Given the description of an element on the screen output the (x, y) to click on. 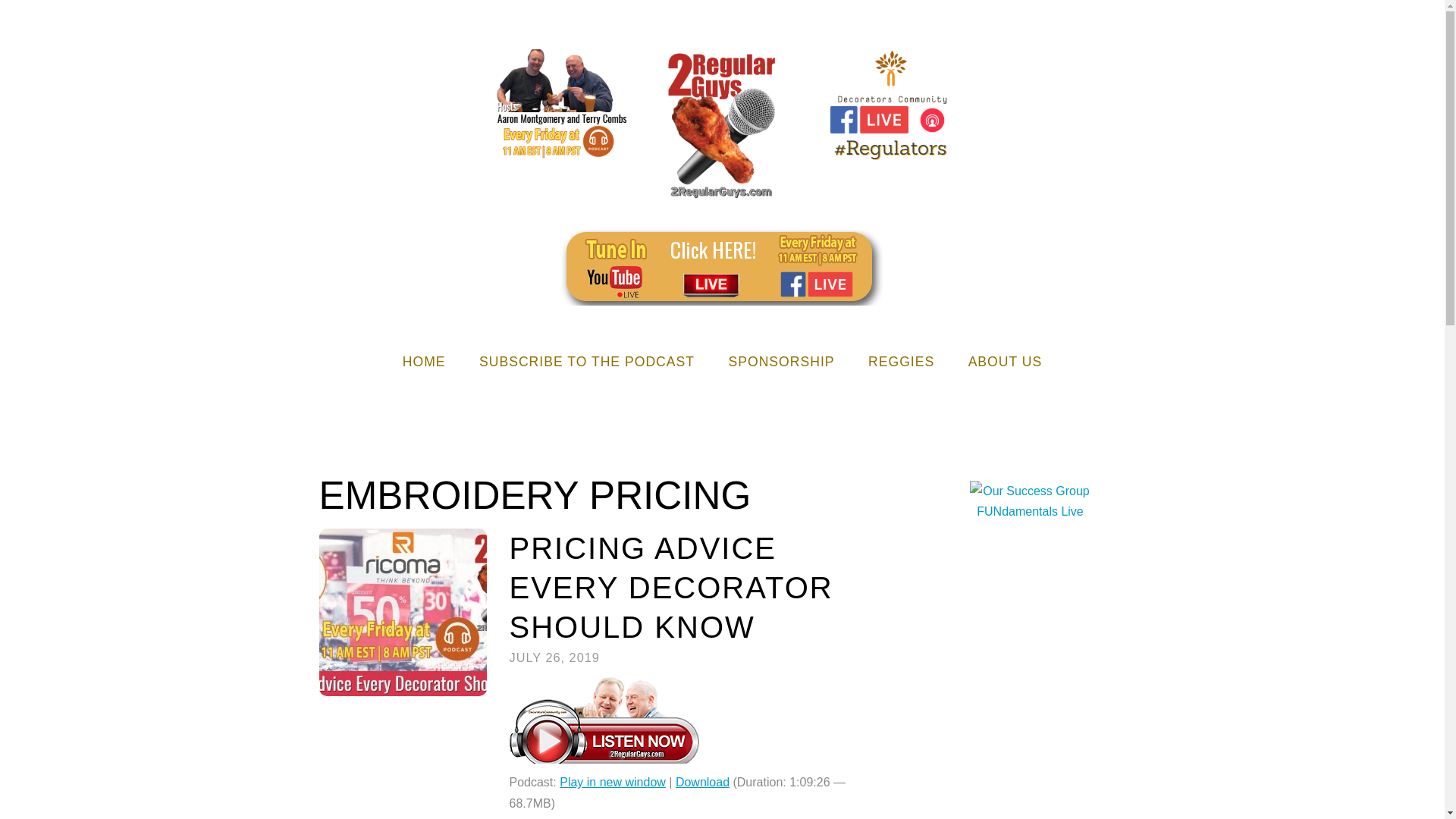
Play in new window (612, 781)
ABOUT US (1005, 360)
Download (702, 781)
2 Regular Guys Podcast (722, 190)
Play (603, 719)
Download (702, 781)
Play (603, 758)
PRICING ADVICE EVERY DECORATOR SHOULD KNOW (670, 587)
2 Regular Guys Podcast (722, 124)
Play in new window (612, 781)
REGGIES (901, 360)
HOME (424, 360)
SPONSORSHIP (780, 360)
SUBSCRIBE TO THE PODCAST (587, 360)
